Given the description of an element on the screen output the (x, y) to click on. 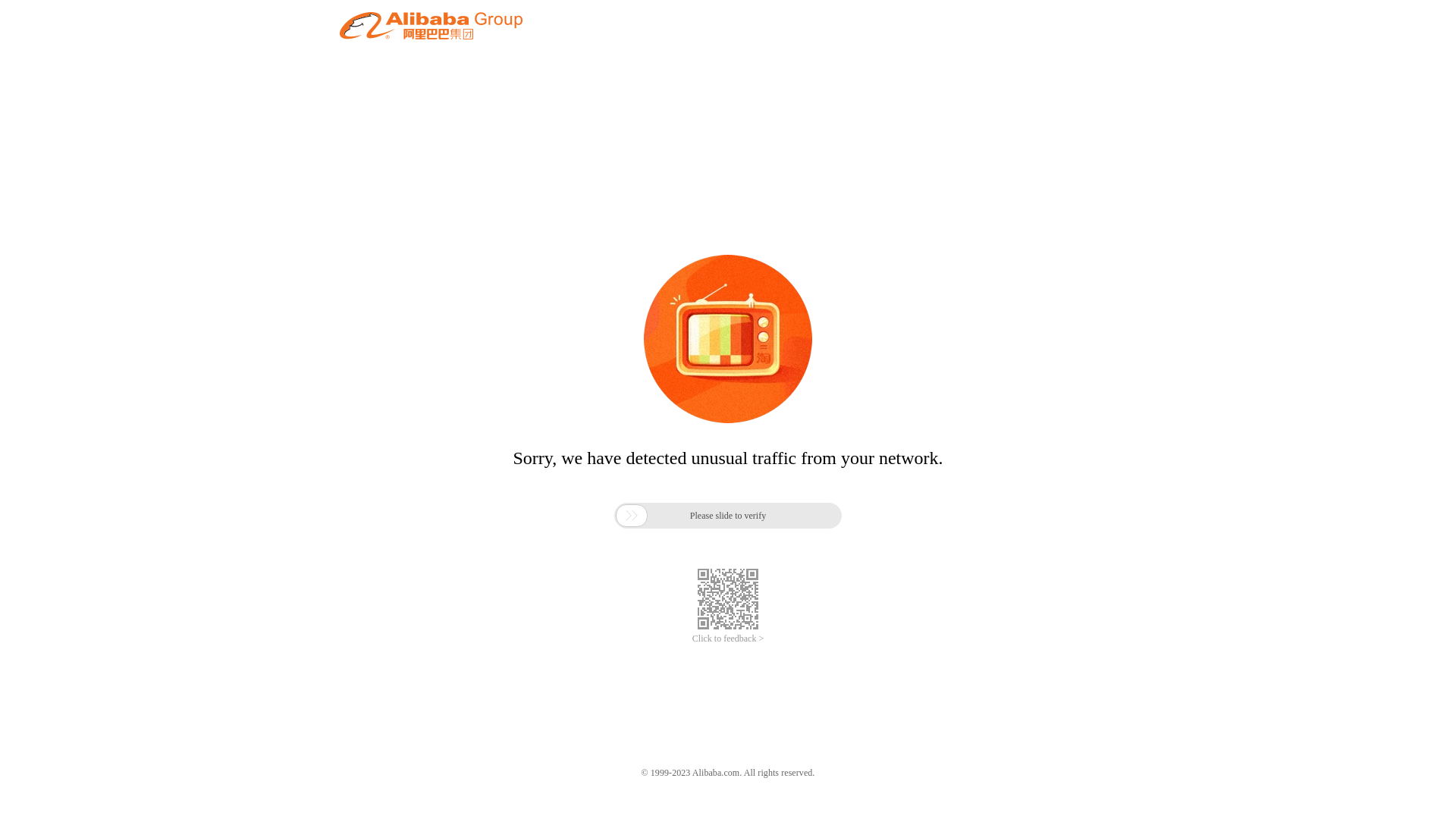
Click to feedback > Element type: text (727, 638)
